Given the description of an element on the screen output the (x, y) to click on. 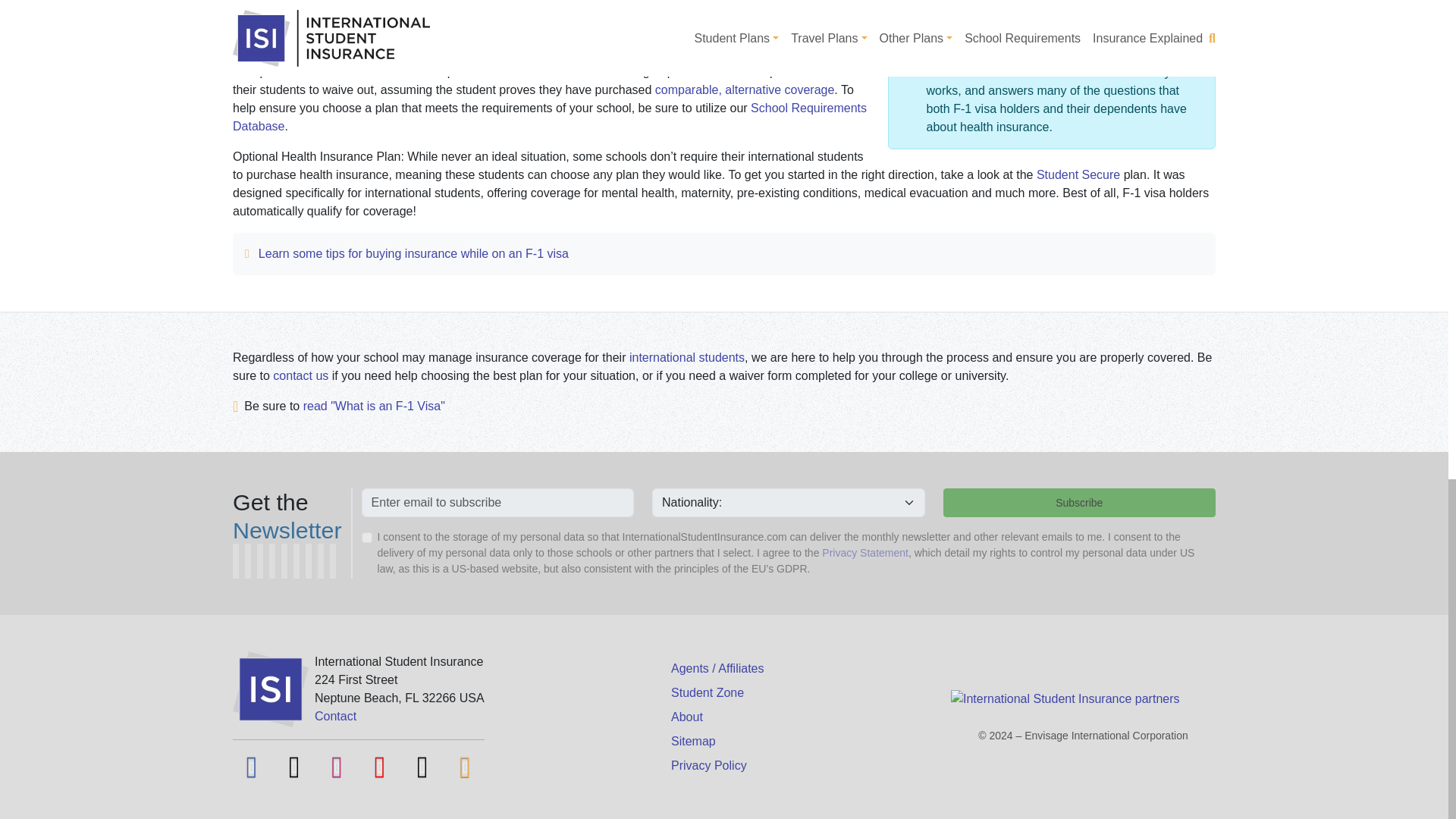
Facebook Fan Page (251, 767)
International Student Insurance Blog (465, 767)
International Student on TikTok (422, 767)
1 (366, 537)
Twitter Student Insurance Page (294, 767)
International Student on YouTube (379, 767)
Instagram Student Insurance Page (337, 767)
